Given the description of an element on the screen output the (x, y) to click on. 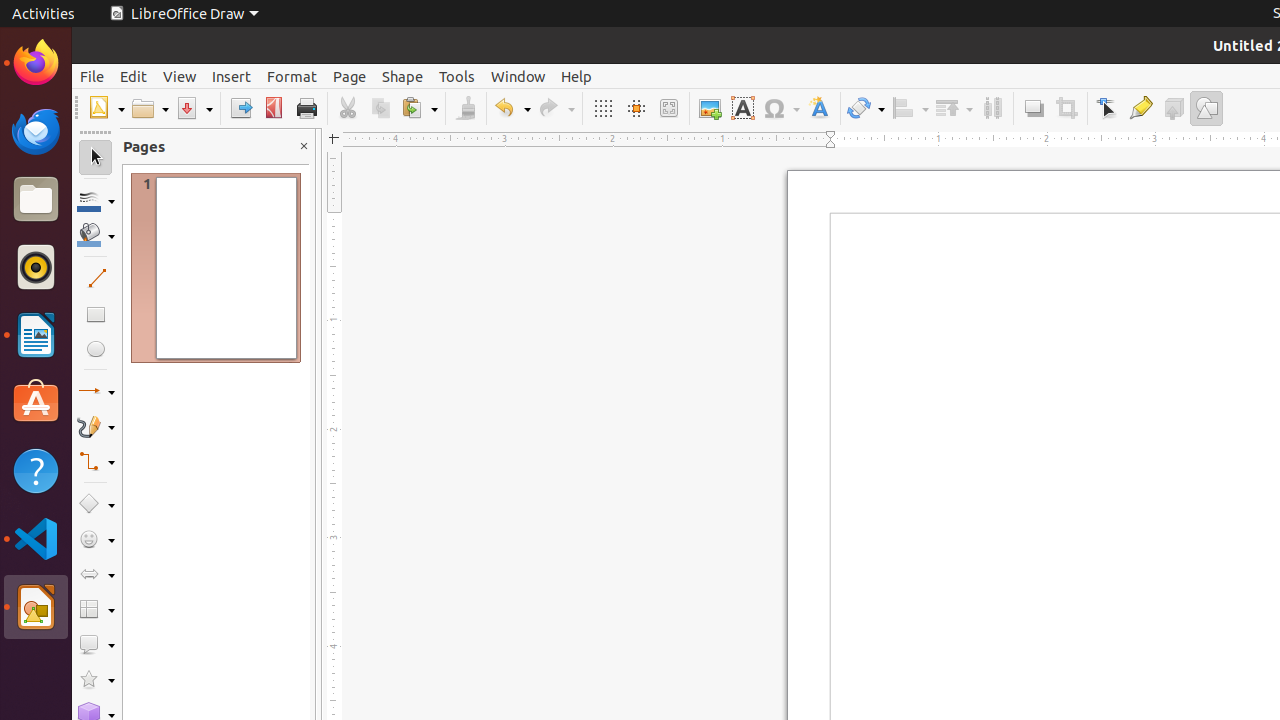
File Element type: menu (92, 76)
Arrange Element type: push-button (954, 108)
Edit Points Element type: push-button (1107, 108)
Draw Functions Element type: toggle-button (1206, 108)
Page Element type: menu (349, 76)
